Given the description of an element on the screen output the (x, y) to click on. 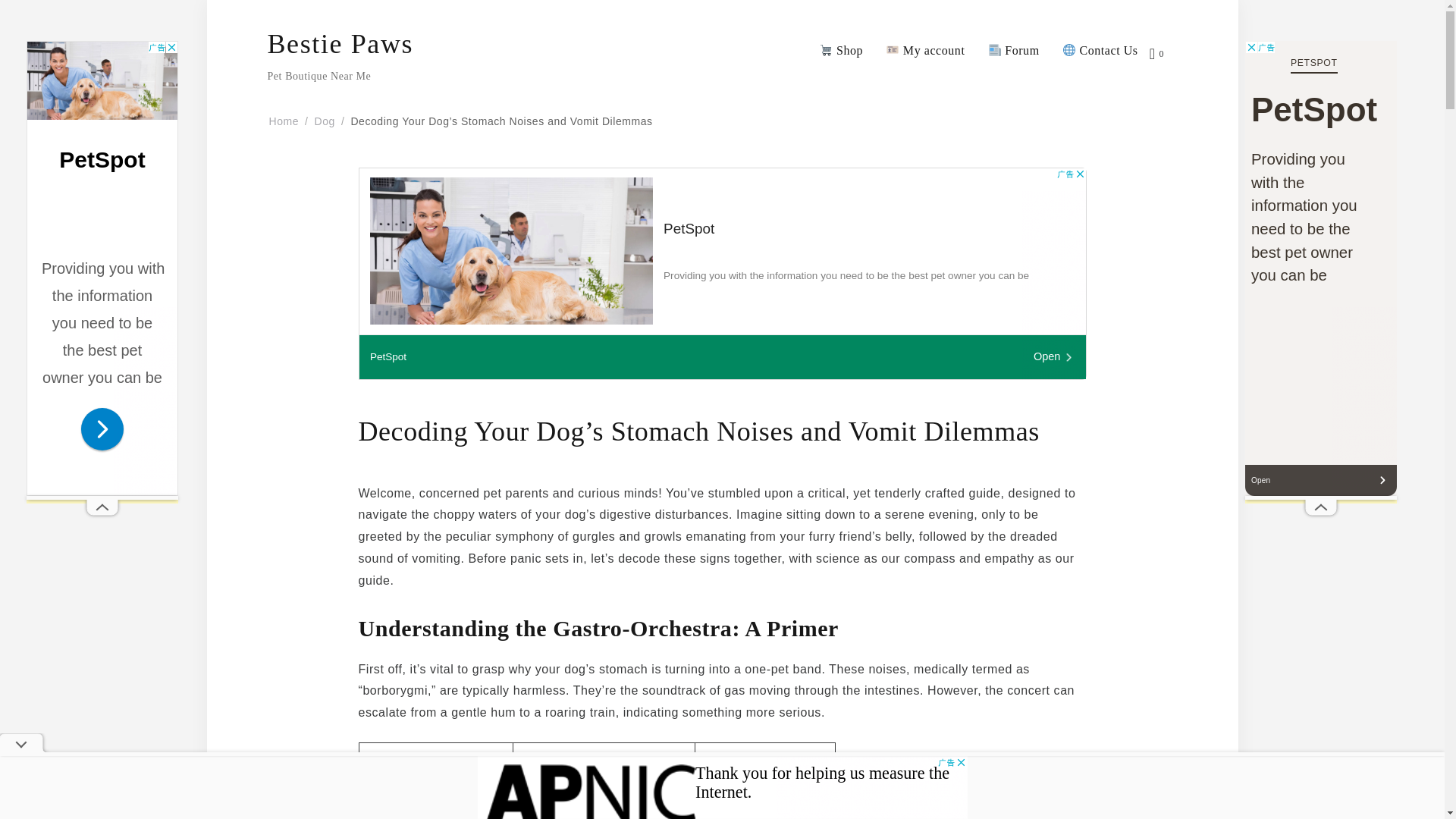
Bestie Paws (339, 44)
Dog (324, 121)
Home (282, 121)
Forum (1012, 50)
My account (925, 50)
Advertisement (722, 787)
Contact Us (1100, 50)
Shop (841, 50)
